Given the description of an element on the screen output the (x, y) to click on. 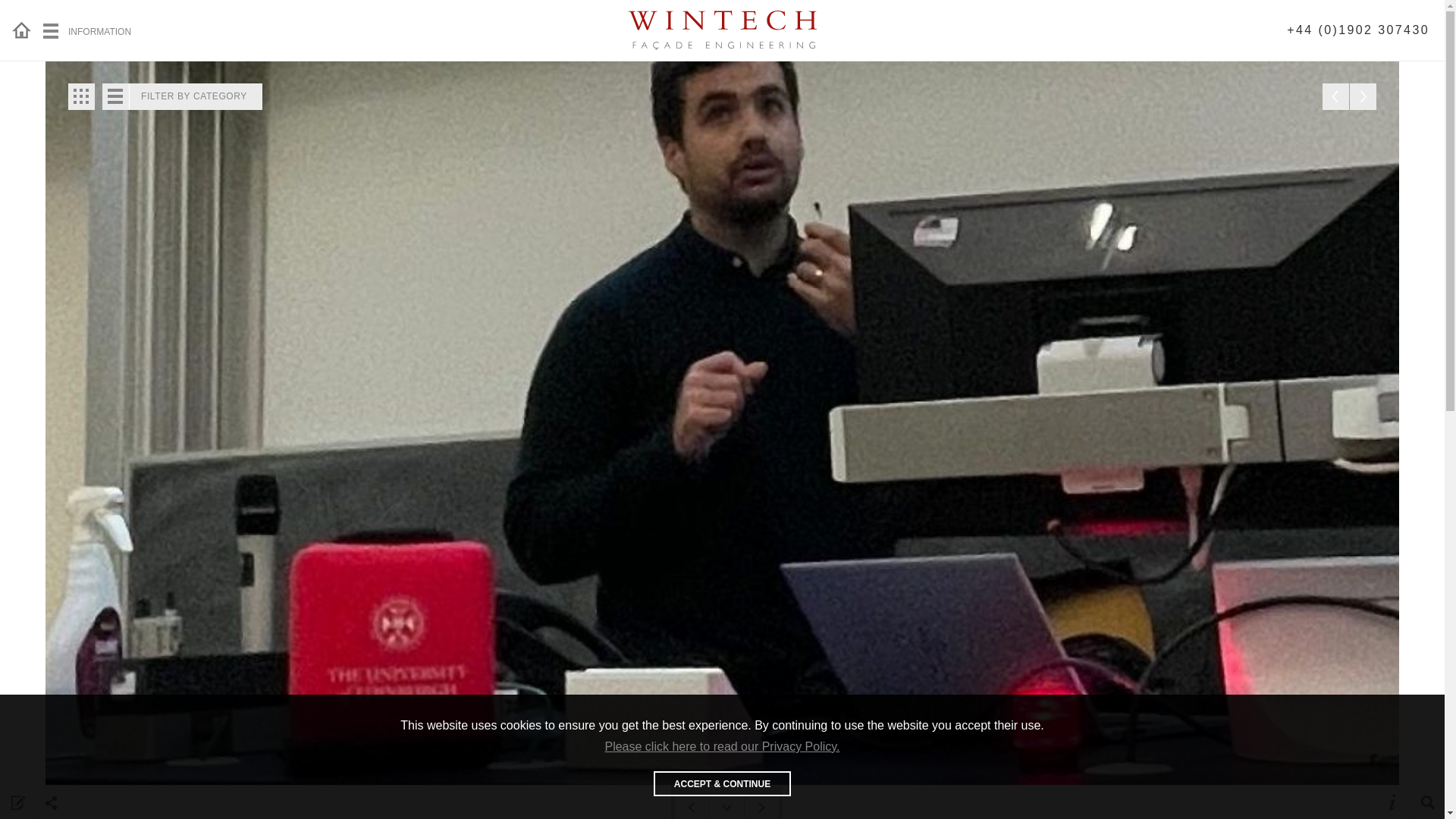
Next Section: Home (761, 807)
Subscribe (16, 802)
Home (24, 29)
SUSTAINABILITY (1173, 15)
FIRE ENGINEERING (993, 15)
Back to news (81, 96)
Wintech (721, 29)
Share (51, 802)
STRUCTURES (632, 15)
Home (24, 29)
